Given the description of an element on the screen output the (x, y) to click on. 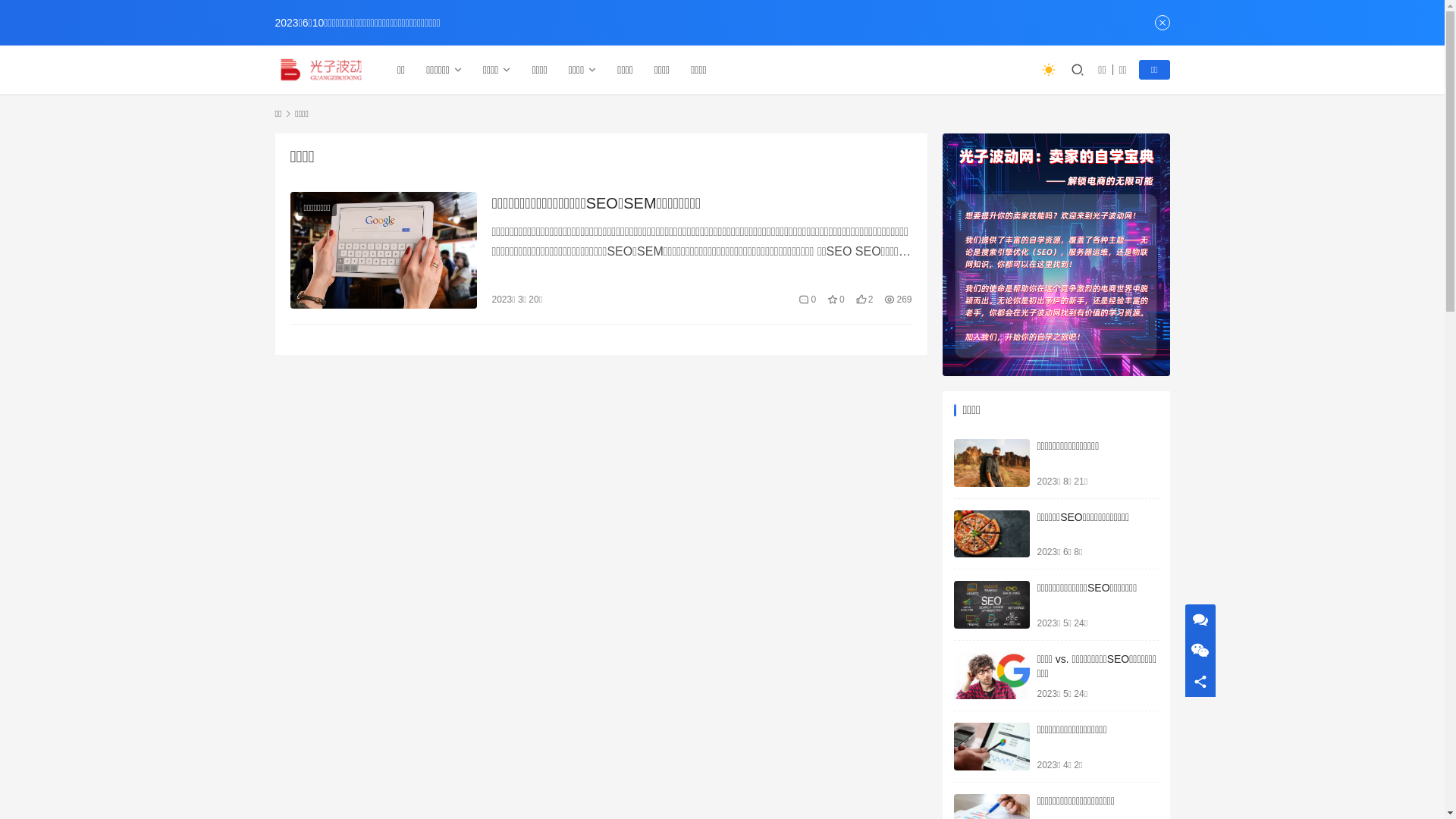
0 Element type: text (806, 299)
